Given the description of an element on the screen output the (x, y) to click on. 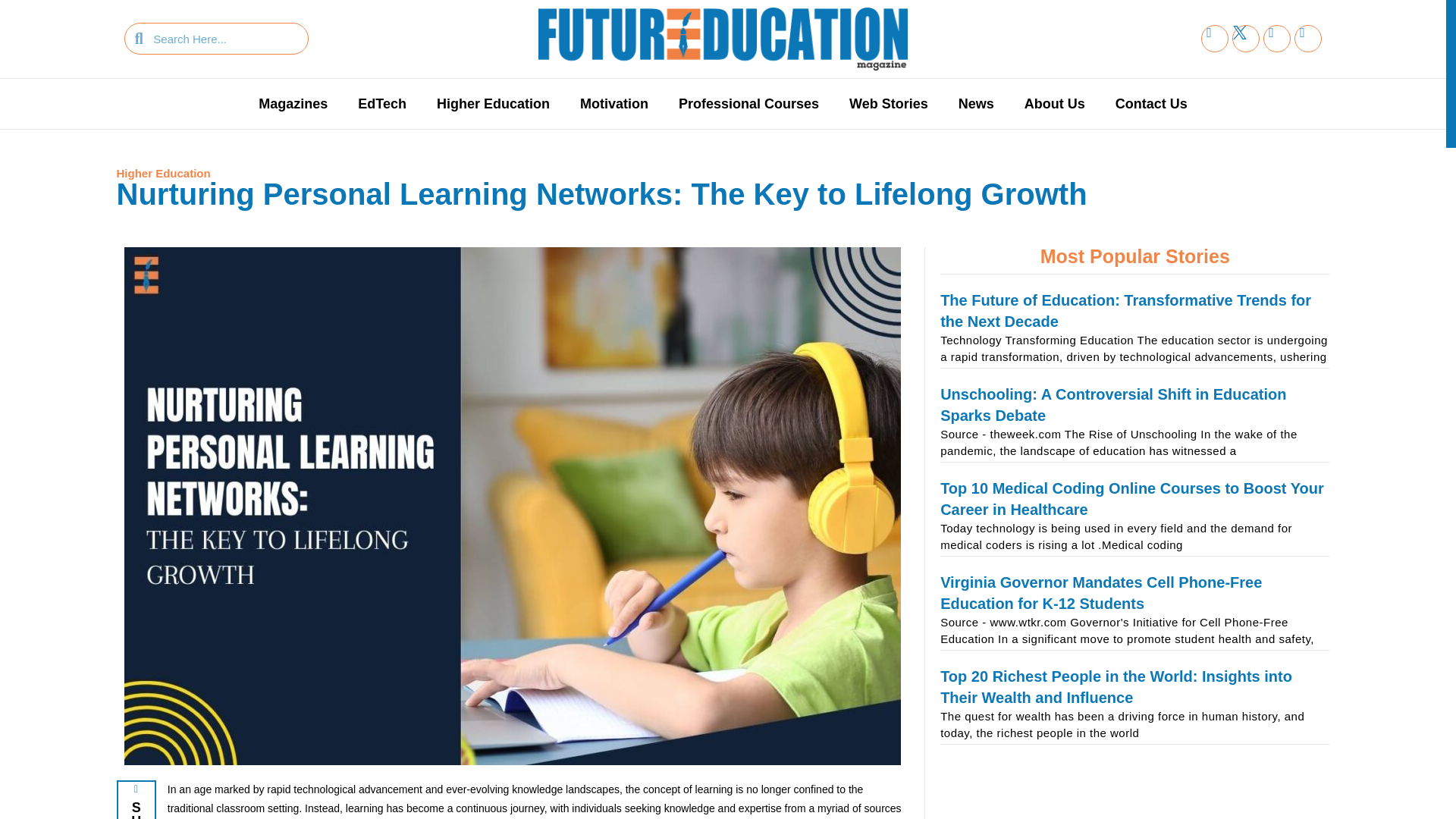
Higher Education (493, 103)
Professional Courses (748, 103)
Higher Education (163, 173)
Web Stories (888, 103)
EdTech (382, 103)
About Us (1054, 103)
News (976, 103)
Magazines (292, 103)
Motivation (613, 103)
Contact Us (1151, 103)
